Given the description of an element on the screen output the (x, y) to click on. 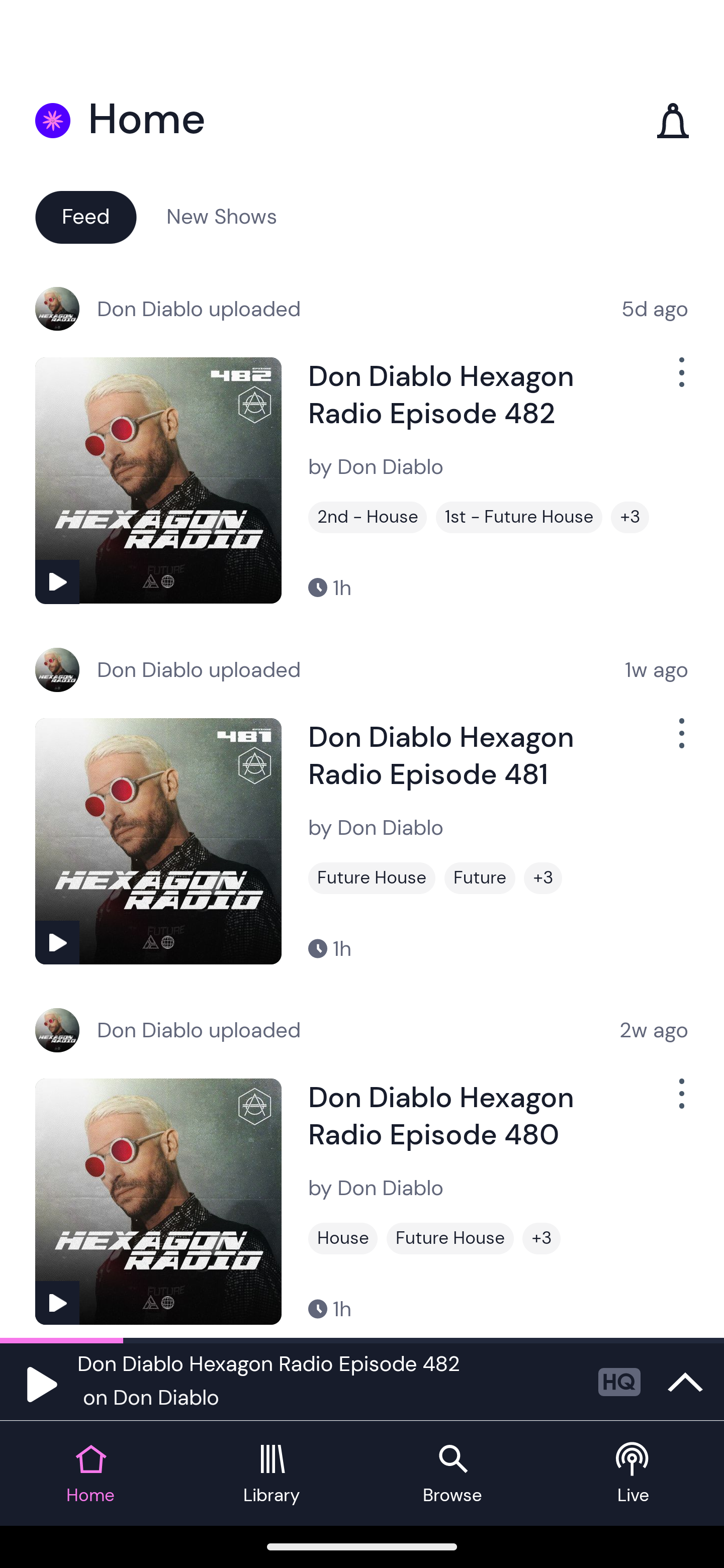
Feed (85, 216)
New Shows (221, 216)
Show Options Menu Button (679, 379)
2nd - House (367, 517)
1st - Future House (518, 517)
Show Options Menu Button (679, 740)
Future House (371, 877)
Future (479, 877)
Show Options Menu Button (679, 1101)
House (342, 1238)
Future House (450, 1238)
Home tab Home (90, 1473)
Library tab Library (271, 1473)
Browse tab Browse (452, 1473)
Live tab Live (633, 1473)
